Given the description of an element on the screen output the (x, y) to click on. 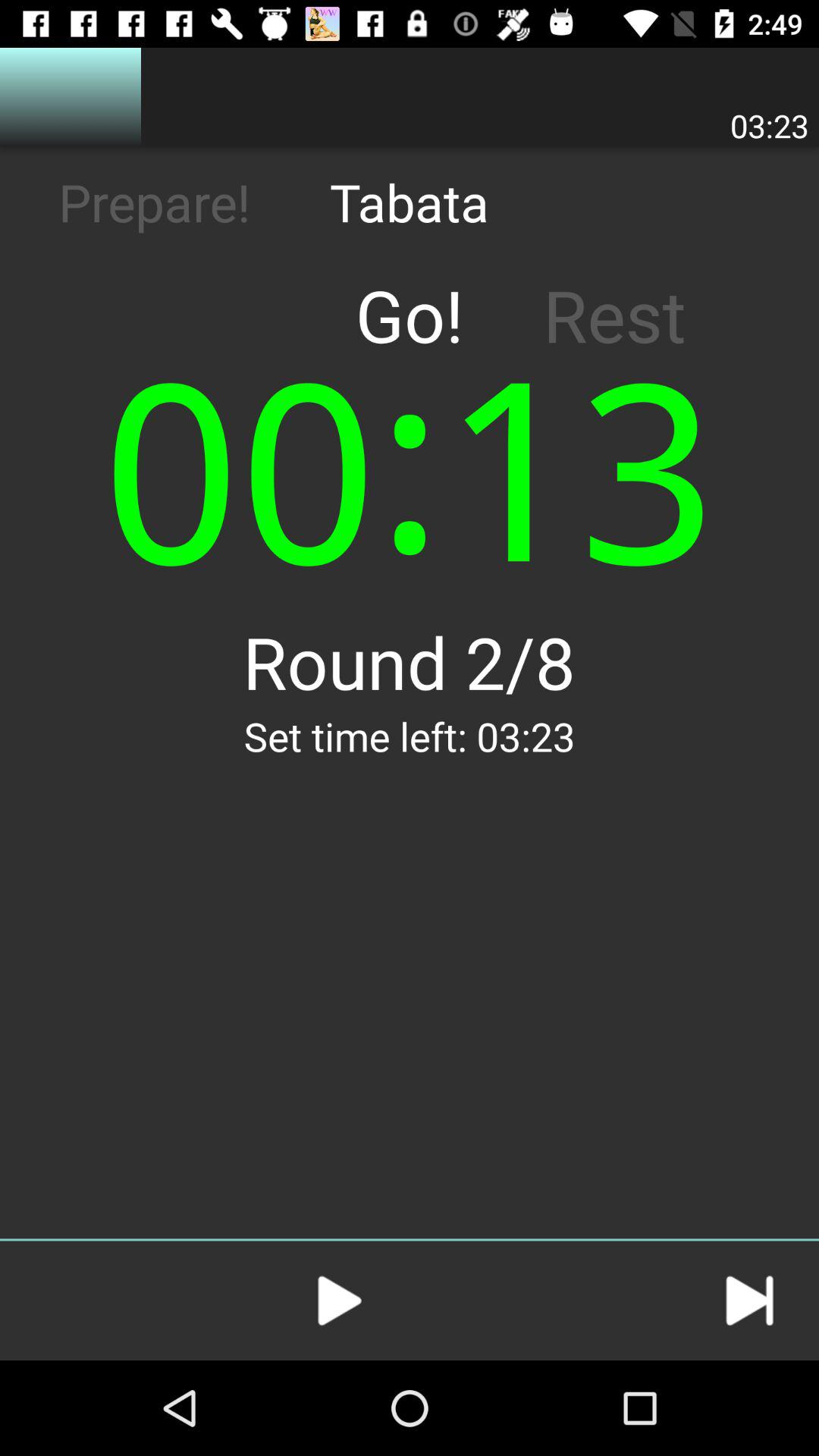
play button (339, 1300)
